Given the description of an element on the screen output the (x, y) to click on. 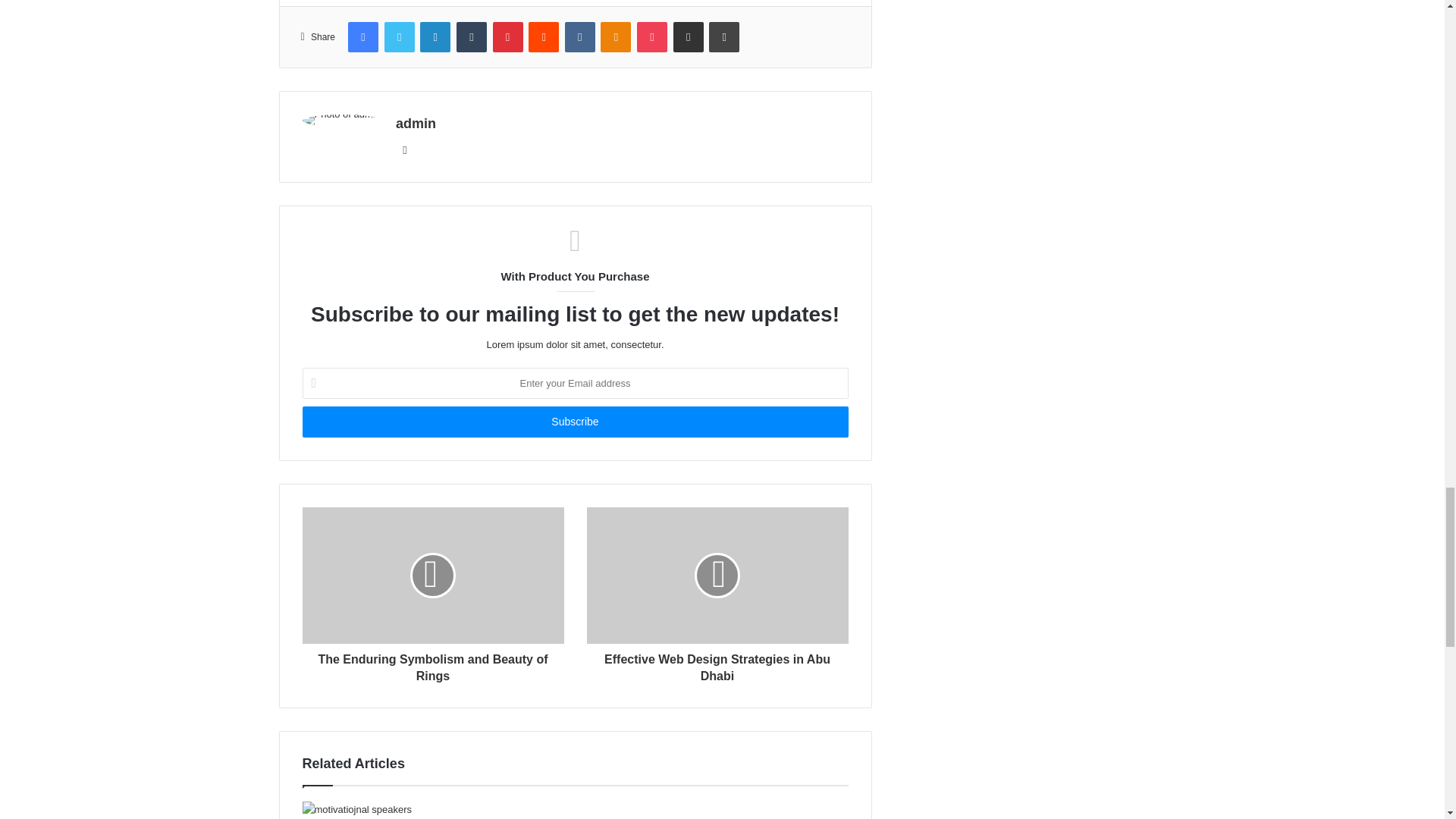
Subscribe (574, 421)
